Given the description of an element on the screen output the (x, y) to click on. 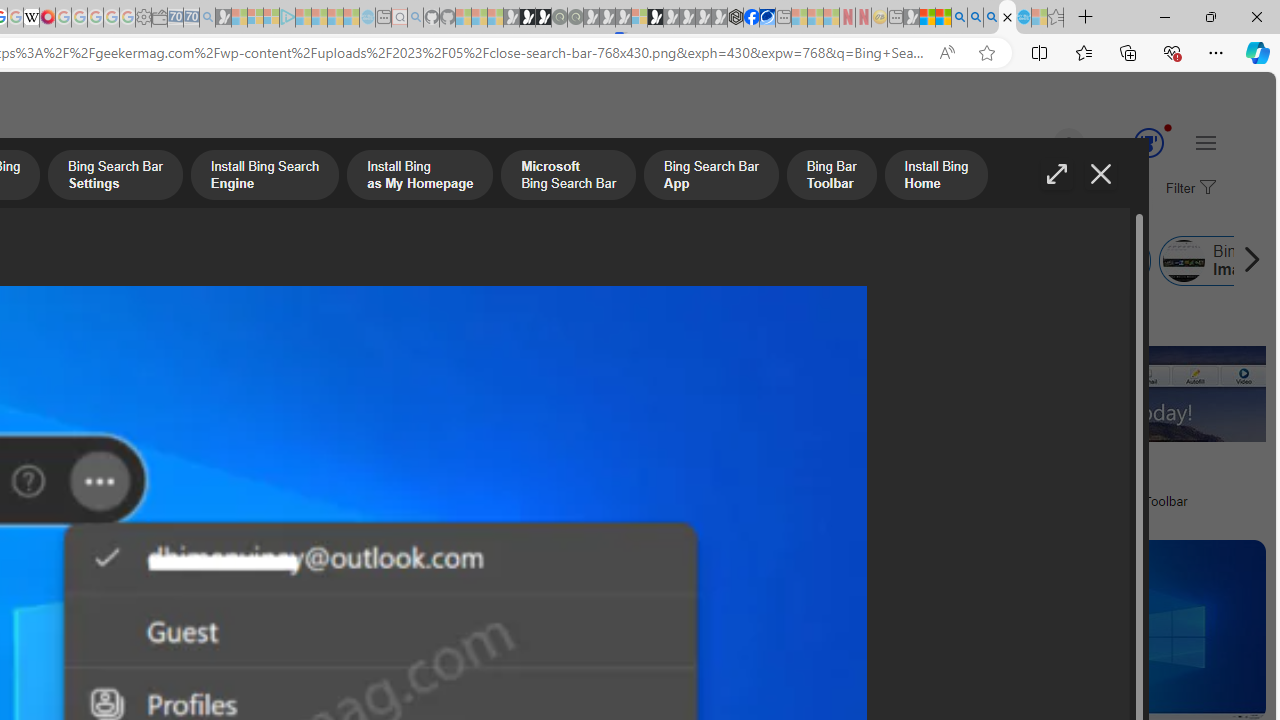
AutomationID: rh_meter (1148, 142)
Class: item col (1076, 260)
Target page - Wikipedia (31, 17)
